Given the description of an element on the screen output the (x, y) to click on. 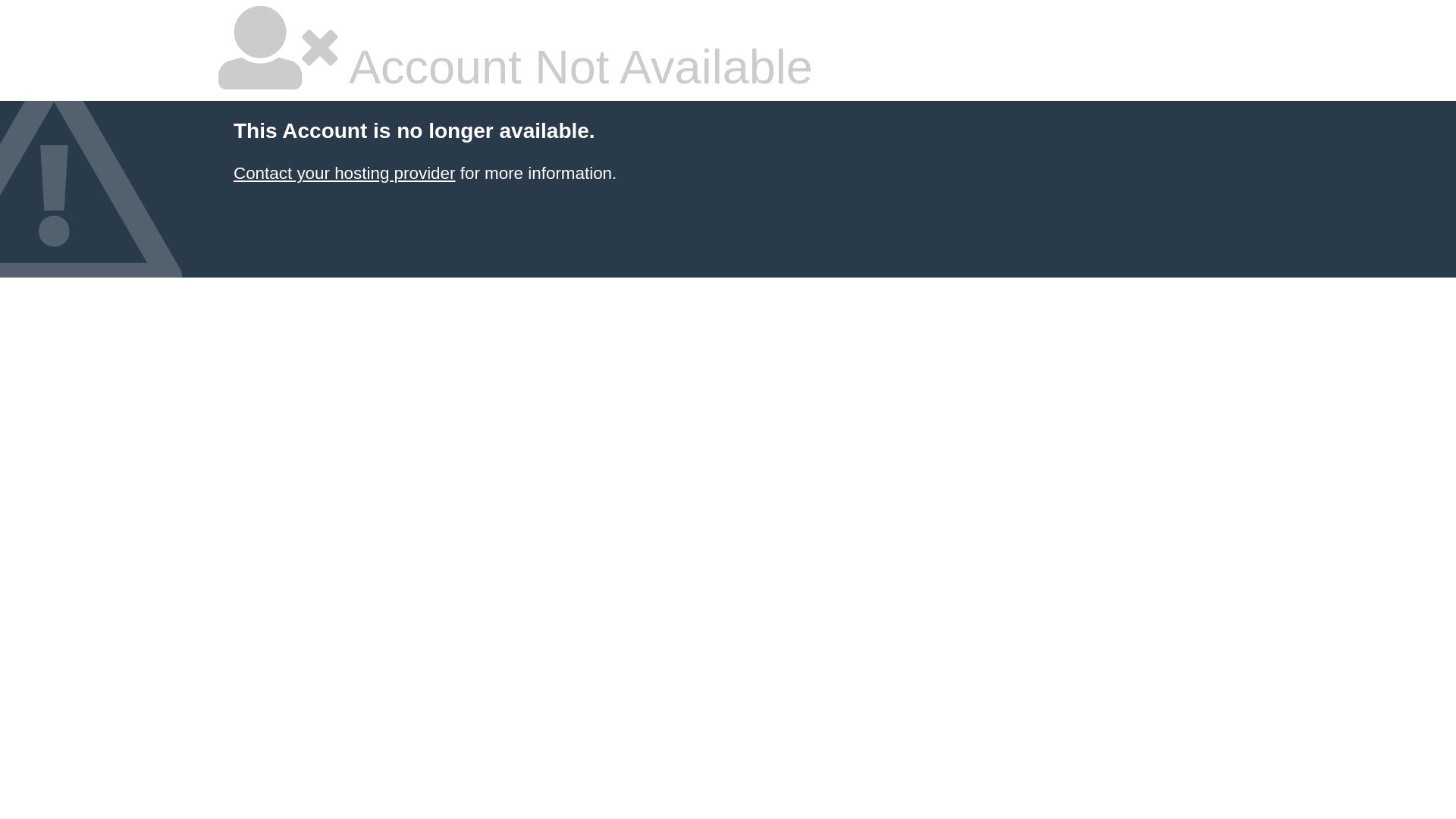
Contact your hosting provider Element type: text (344, 172)
